Given the description of an element on the screen output the (x, y) to click on. 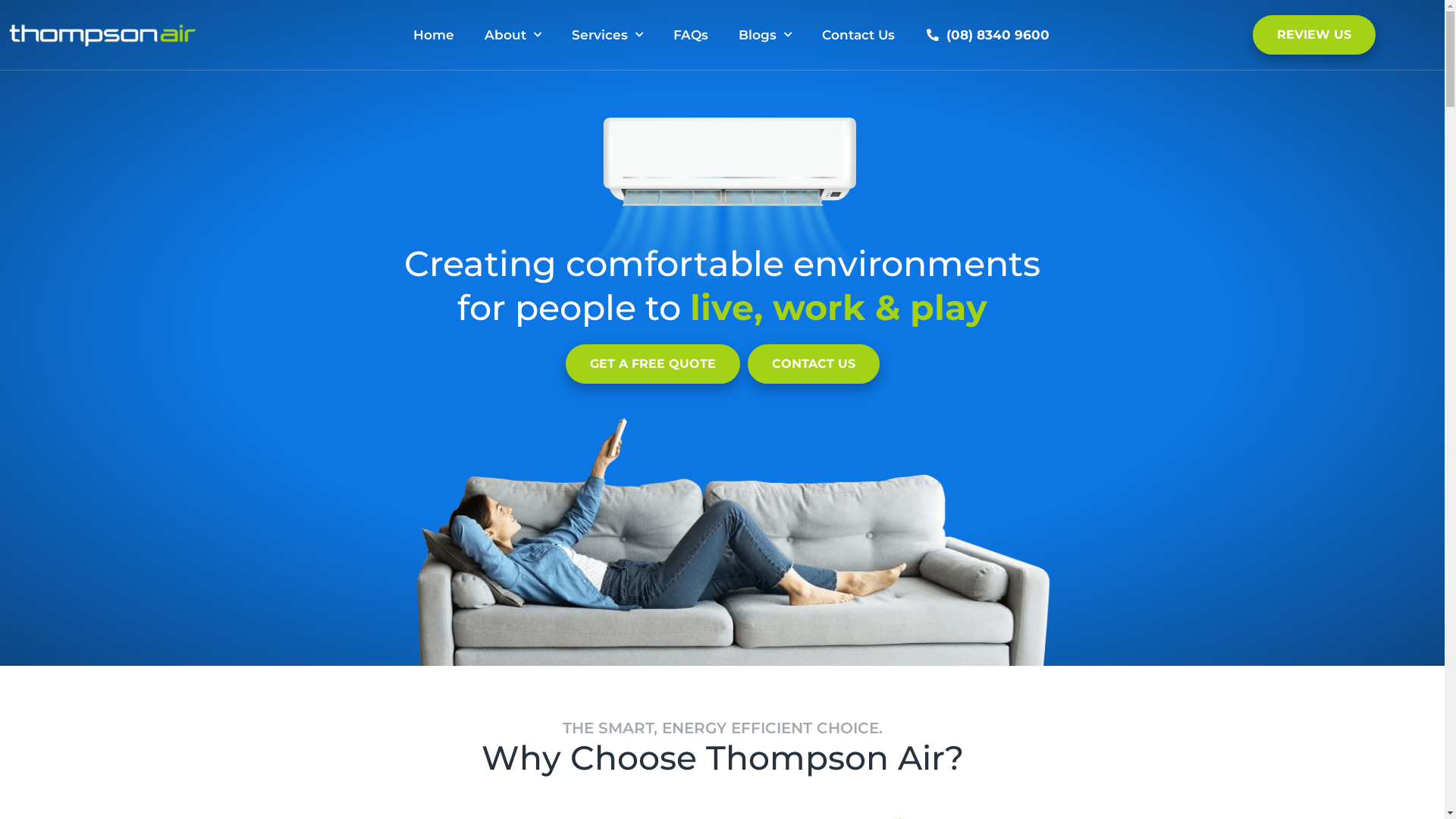
REVIEW US Element type: text (1313, 34)
GET A FREE QUOTE Element type: text (652, 363)
CONTACT US Element type: text (813, 363)
(08) 8340 9600 Element type: text (987, 35)
Blogs Element type: text (764, 34)
FAQs Element type: text (690, 34)
Home Element type: text (433, 34)
Contact Us Element type: text (858, 34)
About Element type: text (512, 34)
Services Element type: text (607, 34)
